Given the description of an element on the screen output the (x, y) to click on. 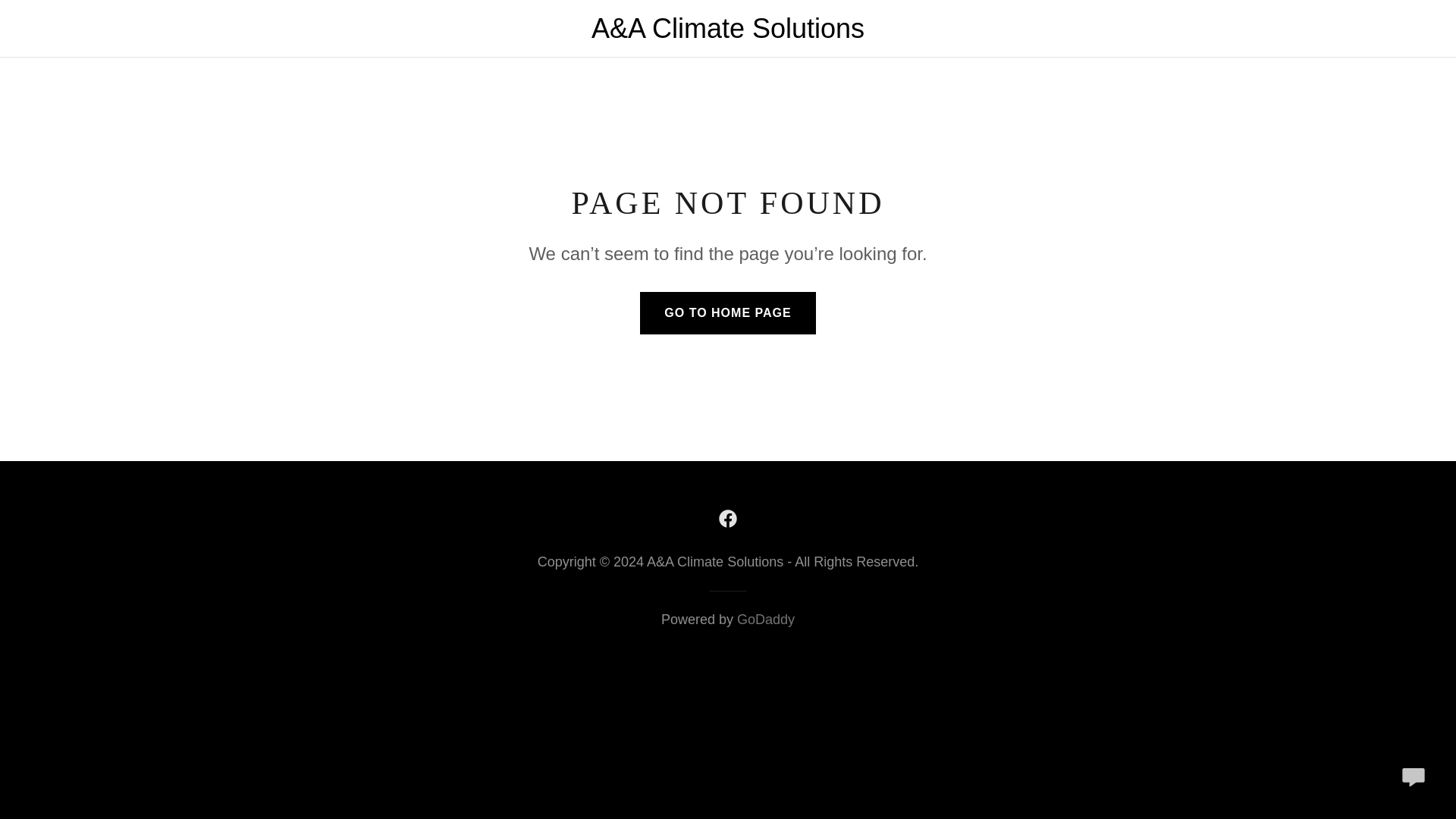
GoDaddy (765, 619)
GO TO HOME PAGE (727, 312)
